Given the description of an element on the screen output the (x, y) to click on. 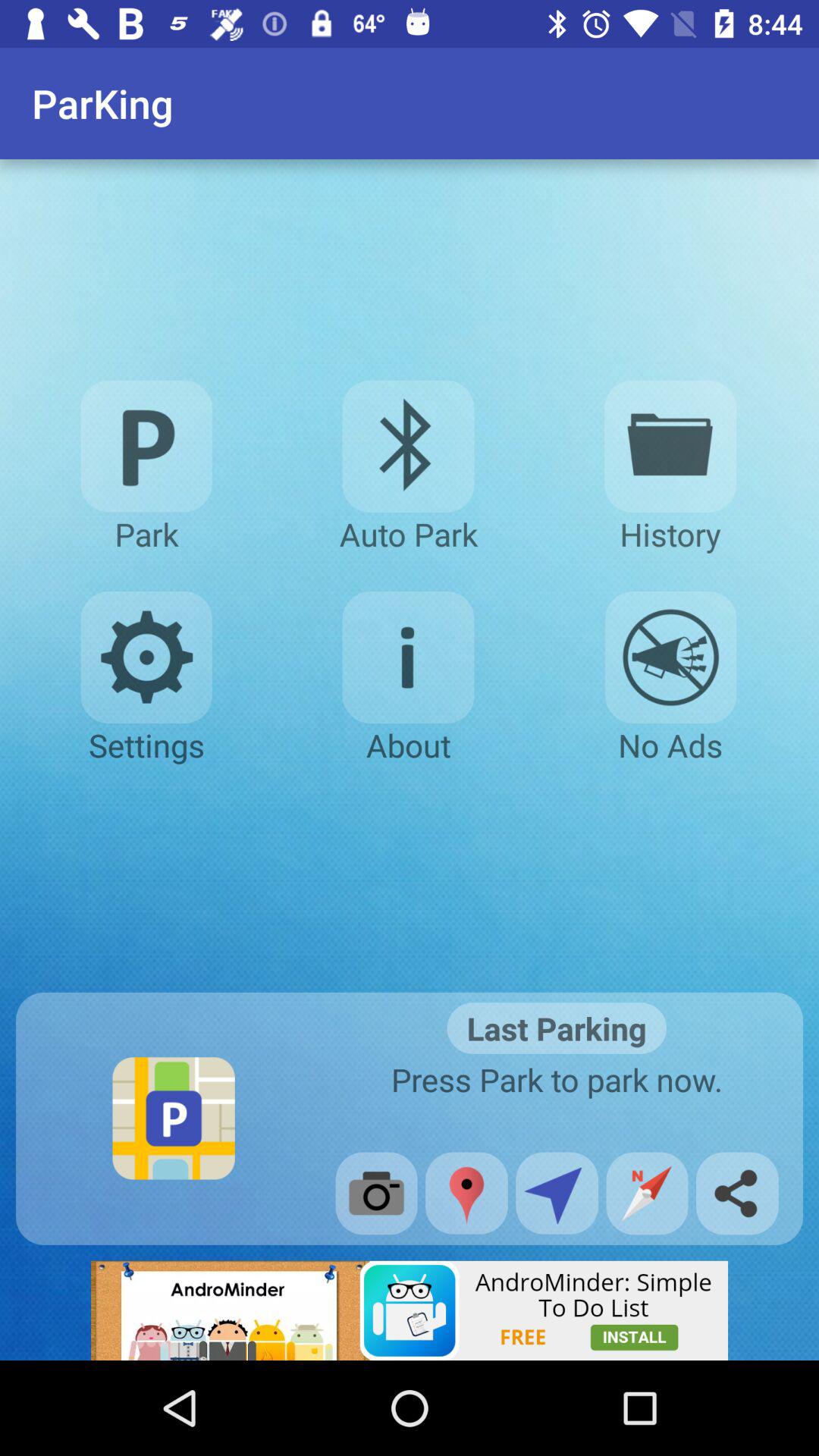
history (670, 446)
